Given the description of an element on the screen output the (x, y) to click on. 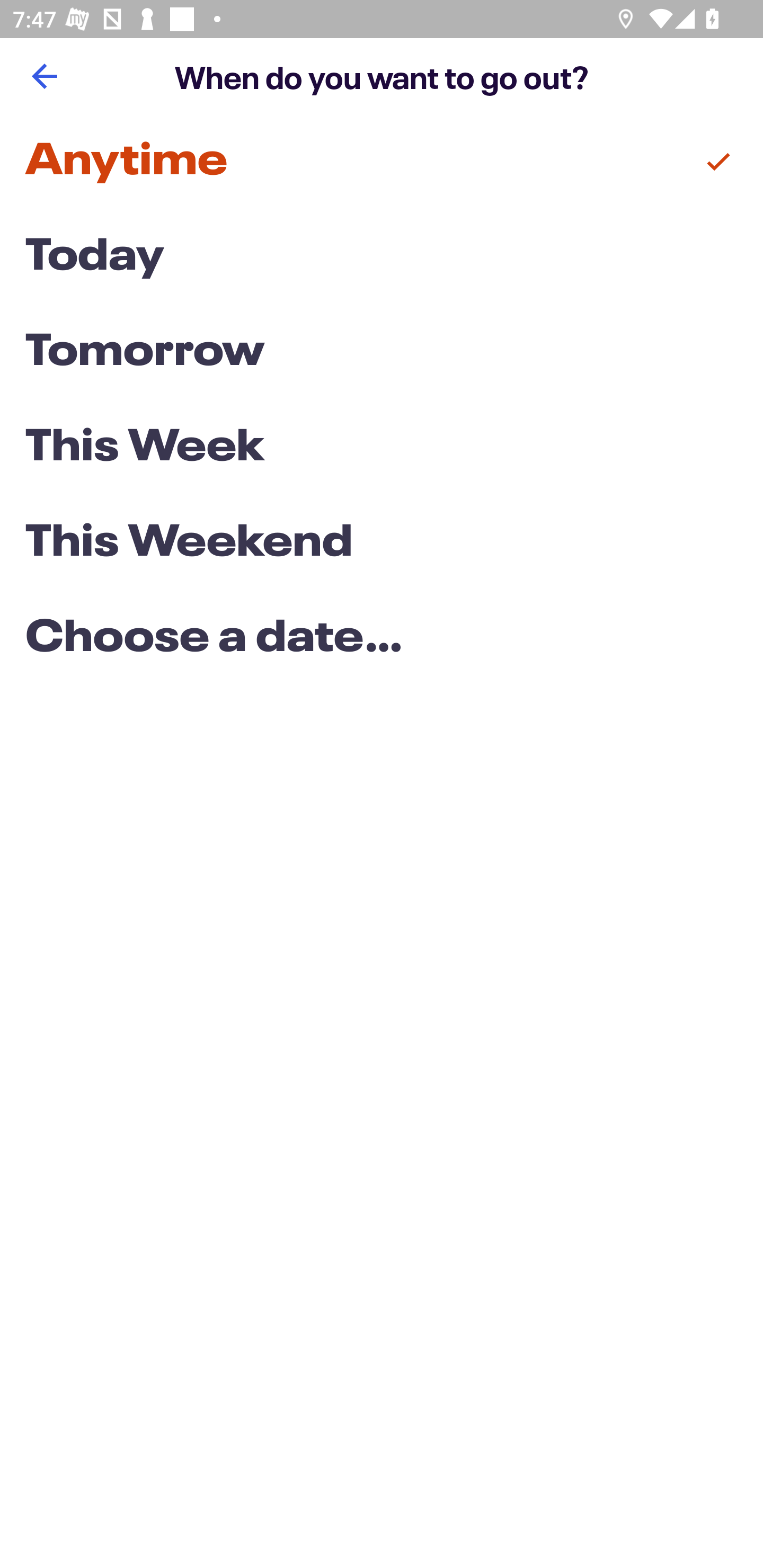
Back button (44, 75)
Anytime (381, 161)
Today (381, 257)
Tomorrow (381, 352)
This Week (381, 447)
This Weekend (381, 542)
Choose a date… (381, 638)
